Given the description of an element on the screen output the (x, y) to click on. 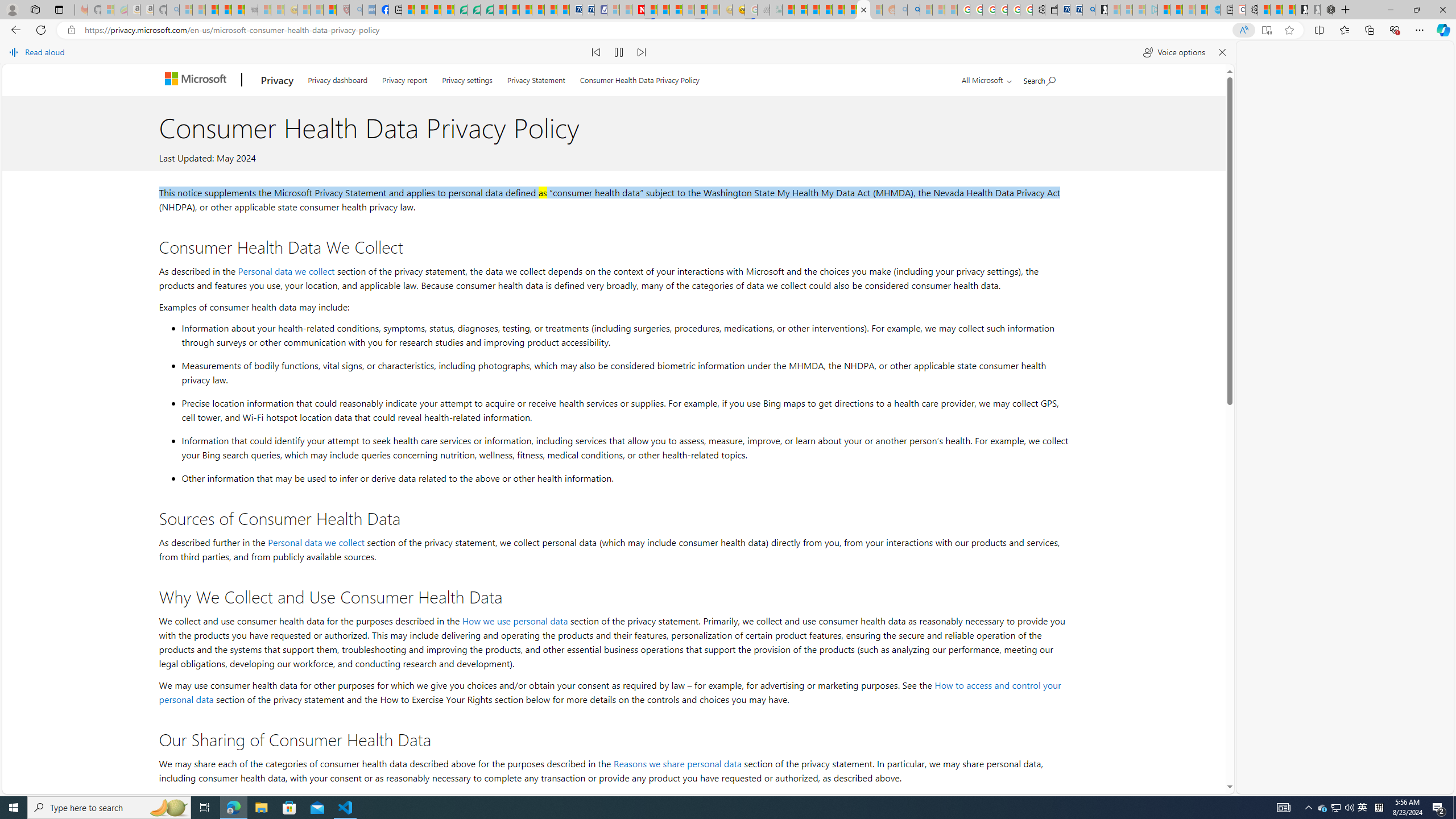
Kinda Frugal - MSN (850, 9)
Wallet (1050, 9)
Enter Immersive Reader (F9) (1266, 29)
Robert H. Shmerling, MD - Harvard Health - Sleeping (342, 9)
Cheap Car Rentals - Save70.com (1076, 9)
